Given the description of an element on the screen output the (x, y) to click on. 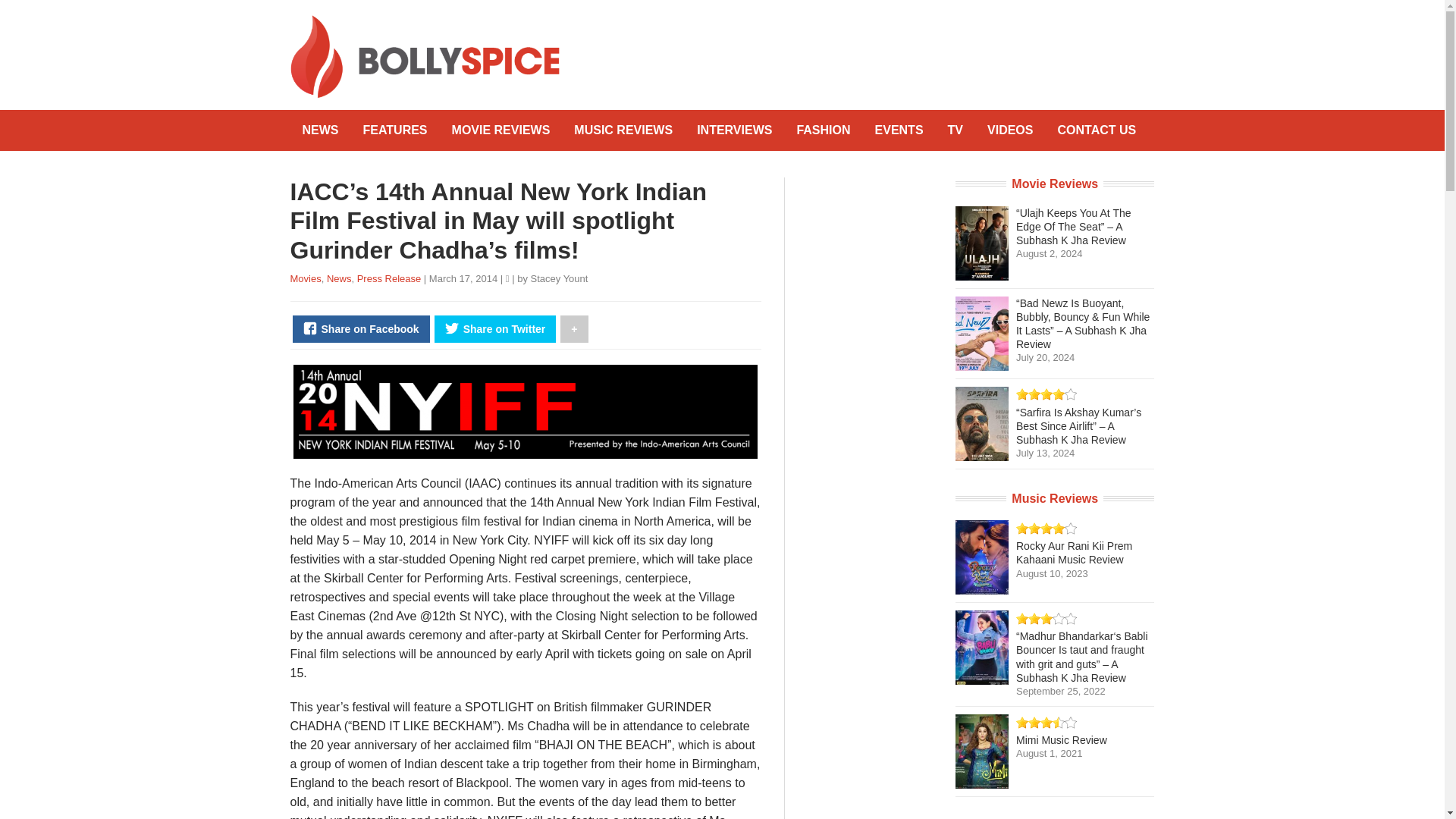
FASHION (822, 130)
EVENTS (899, 130)
VIDEOS (1010, 130)
CONTACT US (1096, 130)
July 13, 2024 (1045, 452)
TV (955, 130)
MUSIC REVIEWS (623, 130)
INTERVIEWS (734, 130)
NEWS (319, 130)
March 17, 2014 (464, 278)
MOVIE REVIEWS (500, 130)
July 20, 2024 (1045, 357)
Rocky Aur Rani Kii Prem Kahaani Music Review (1074, 552)
News (339, 278)
Movies (304, 278)
